Given the description of an element on the screen output the (x, y) to click on. 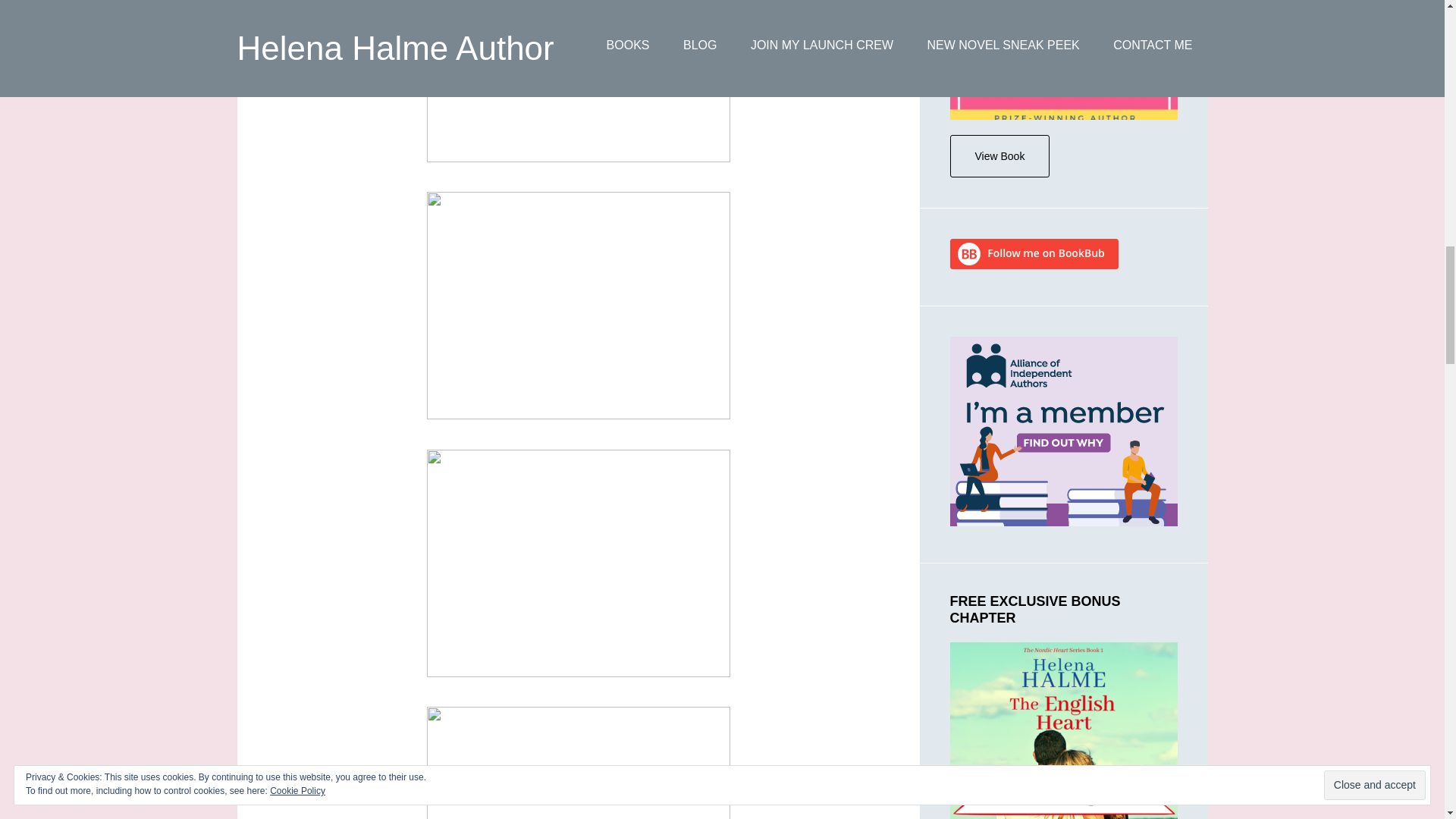
Free Exclusive Bonus Chapter (1062, 730)
